Given the description of an element on the screen output the (x, y) to click on. 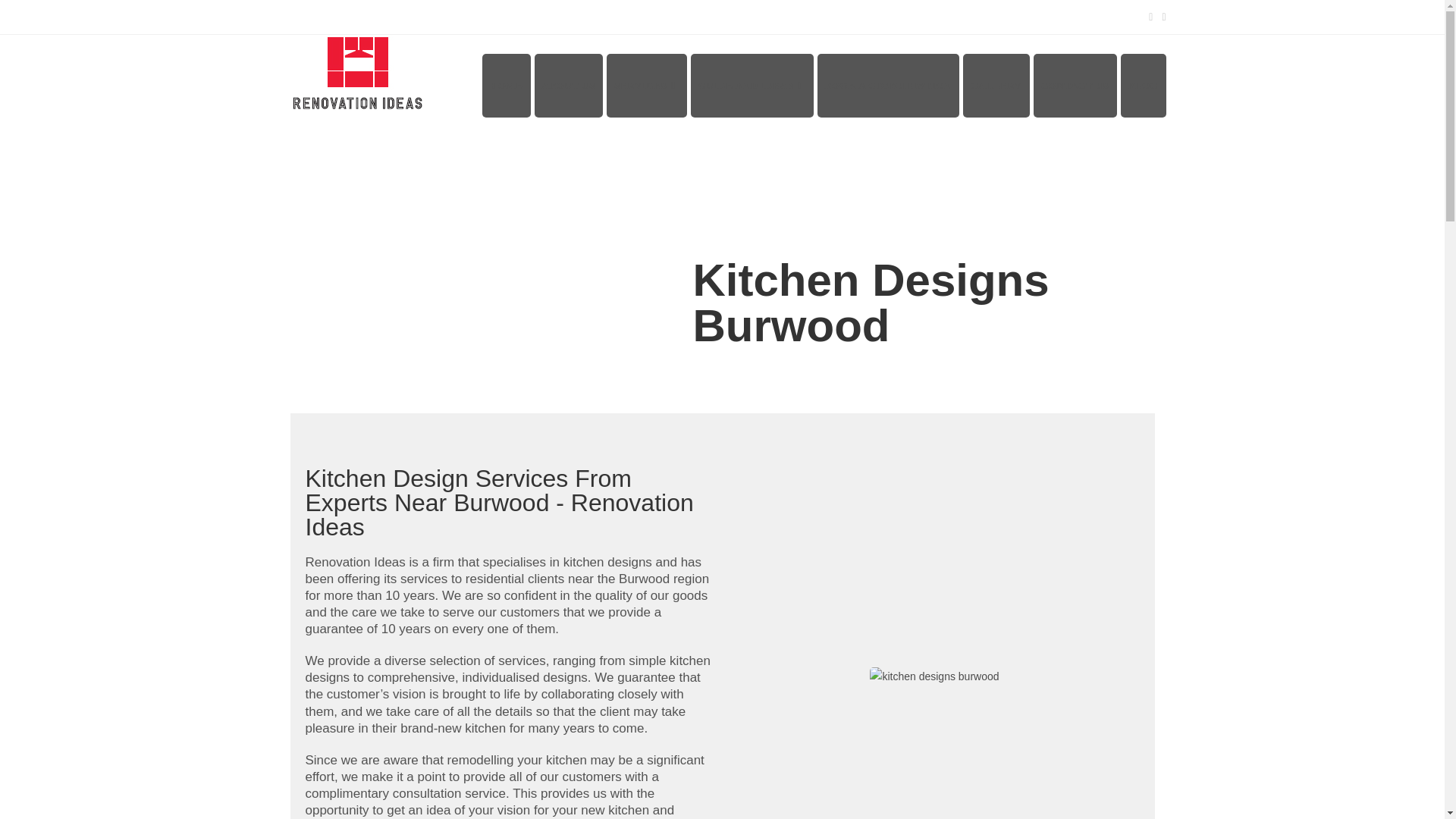
Google Map (314, 15)
0418 186 664 (389, 15)
SERVICES (647, 85)
kitchen designs burwood (933, 676)
BOOK A CONSULTATION (887, 85)
GALLERY (995, 85)
ABOUT US (568, 85)
GUIDE AND IDEAS (751, 85)
CONTACT US (1074, 85)
